Given the description of an element on the screen output the (x, y) to click on. 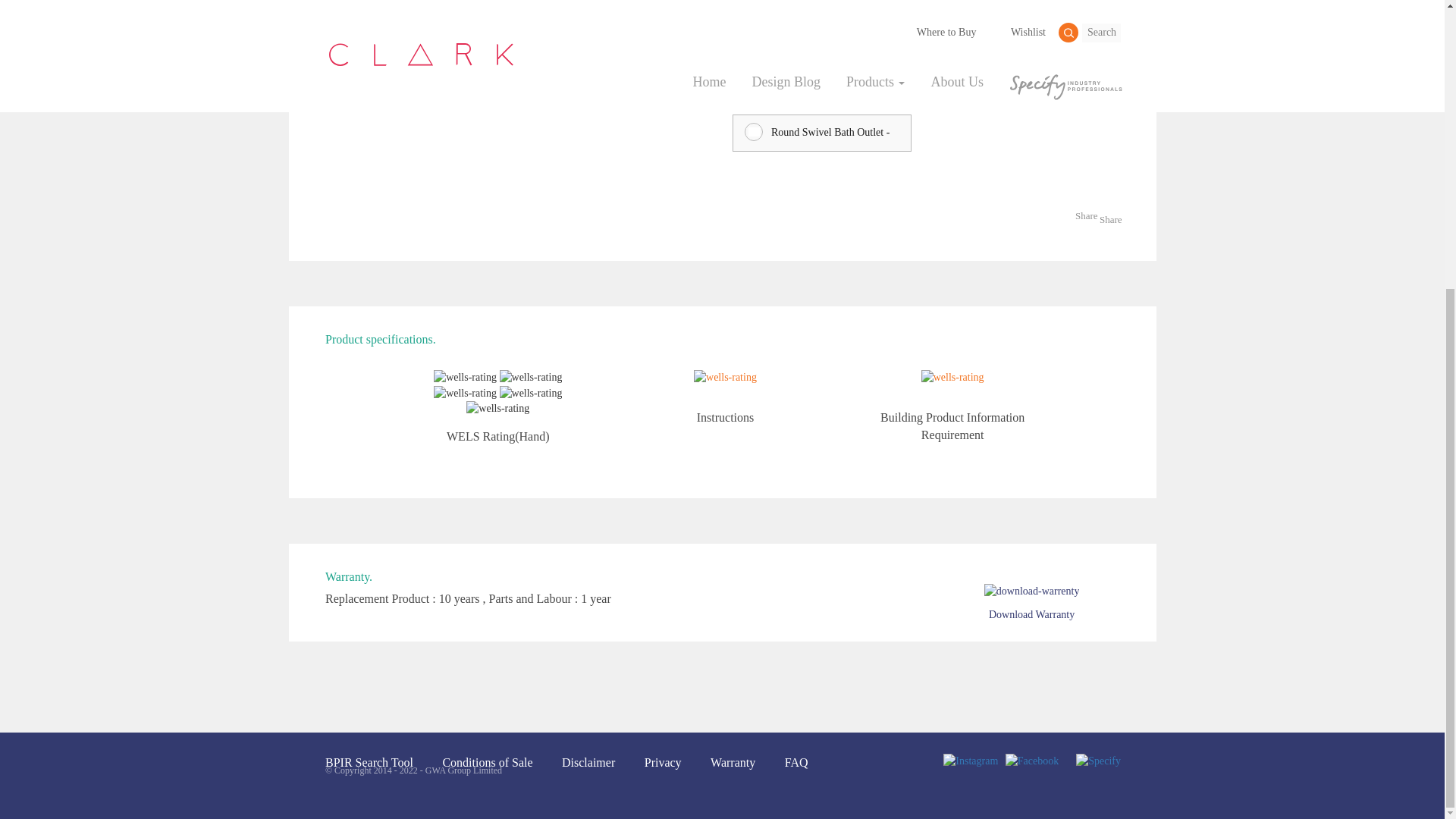
Round Swivel Bath Outlet - Chrome (821, 132)
Instructions (725, 396)
Download Warranty (1032, 602)
Building Product Information Requirement (952, 405)
